Given the description of an element on the screen output the (x, y) to click on. 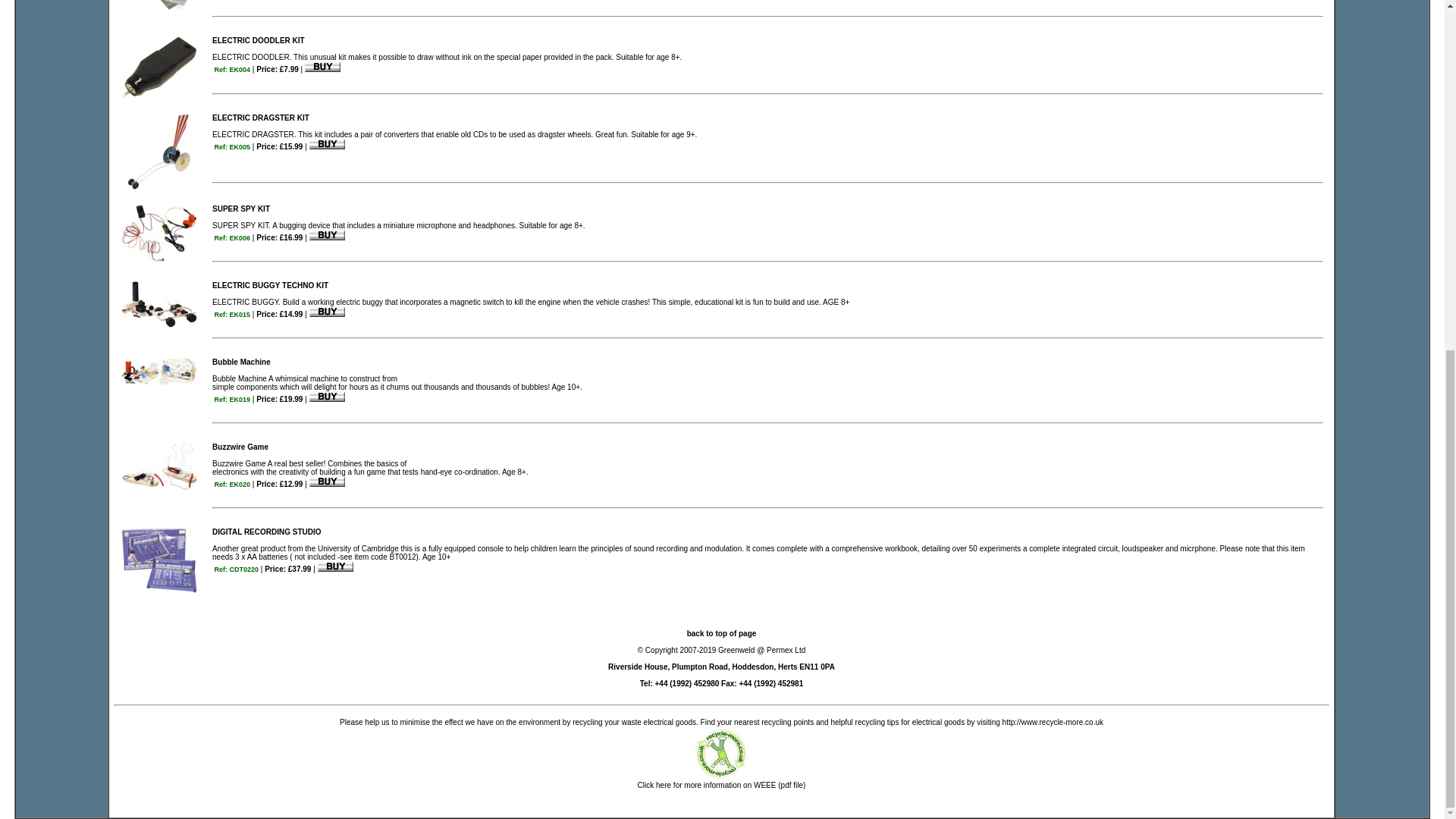
Buzzwire Game (239, 447)
back to top of page (722, 637)
SUPER SPY KIT (240, 208)
DIGITAL RECORDING STUDIO (266, 531)
here (663, 785)
ELECTRIC DOODLER KIT (258, 40)
ELECTRIC BUGGY TECHNO KIT (270, 285)
Bubble Machine (241, 361)
ELECTRIC DRAGSTER KIT (260, 117)
